Given the description of an element on the screen output the (x, y) to click on. 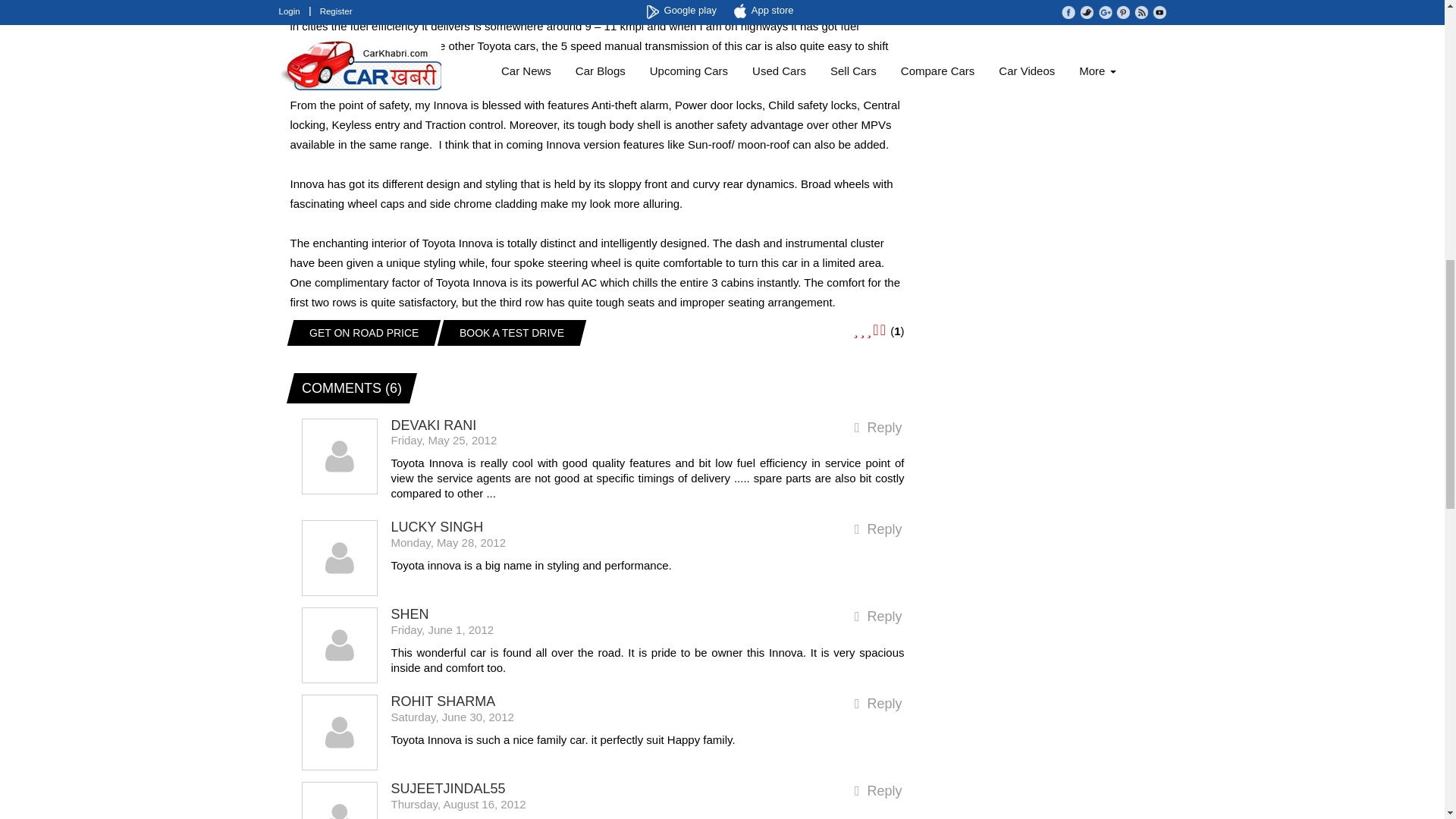
GET ON ROAD PRICE (359, 332)
BOOK A TEST DRIVE (508, 332)
Reply (878, 529)
Reply (878, 704)
Reply (878, 617)
Reply (878, 791)
Reply (878, 428)
